Given the description of an element on the screen output the (x, y) to click on. 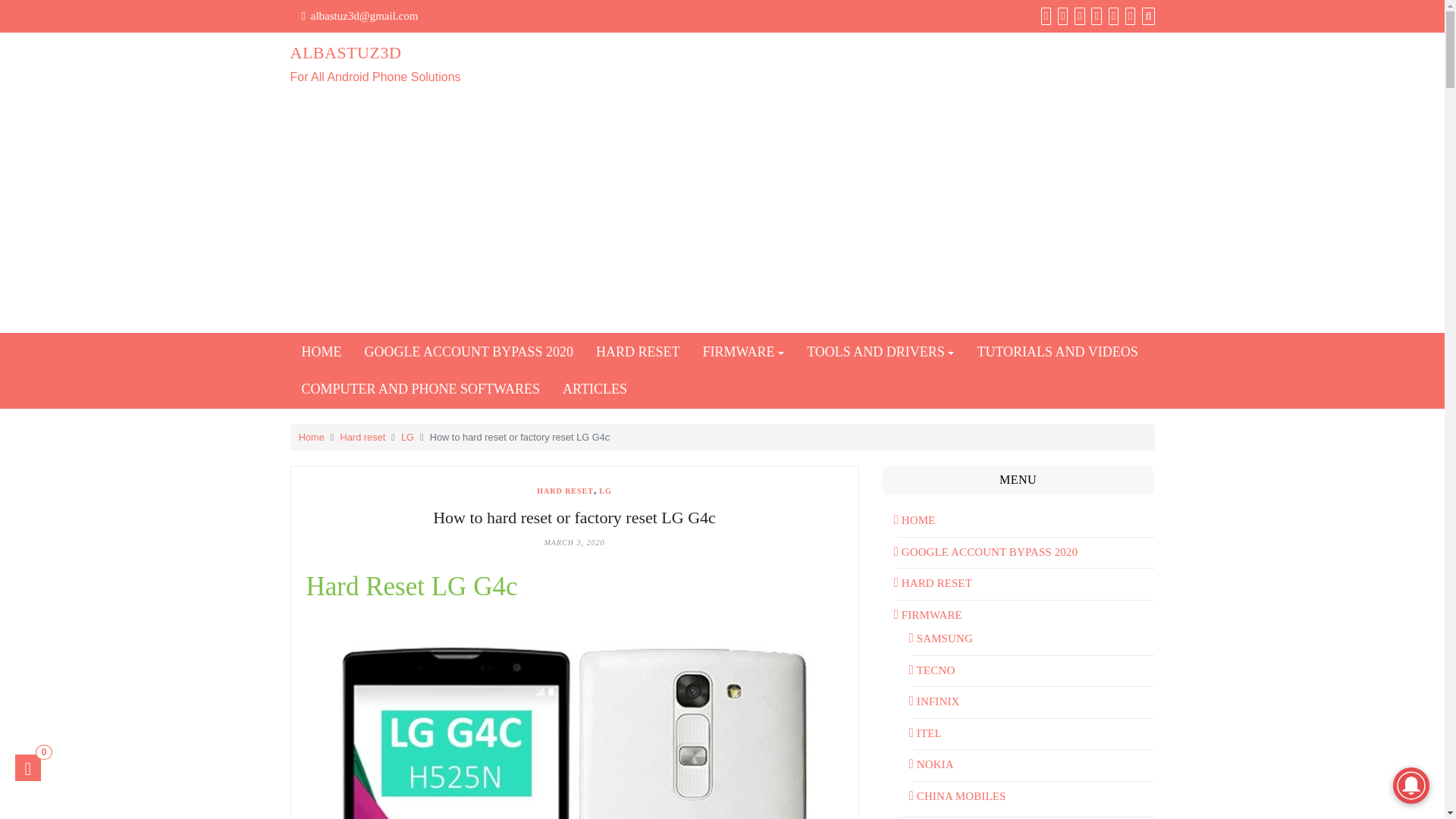
HOME (320, 352)
Home (311, 437)
Advertisement (425, 65)
COMPUTER AND PHONE SOFTWARES (407, 437)
ARTICLES (420, 389)
HARD RESET (595, 389)
0 (638, 352)
TOOLS AND DRIVERS (27, 767)
GOOGLE ACCOUNT BYPASS 2020 (879, 352)
Shopping Cart (469, 352)
Hard reset (27, 767)
FIRMWARE (362, 437)
TUTORIALS AND VIDEOS (743, 352)
